Given the description of an element on the screen output the (x, y) to click on. 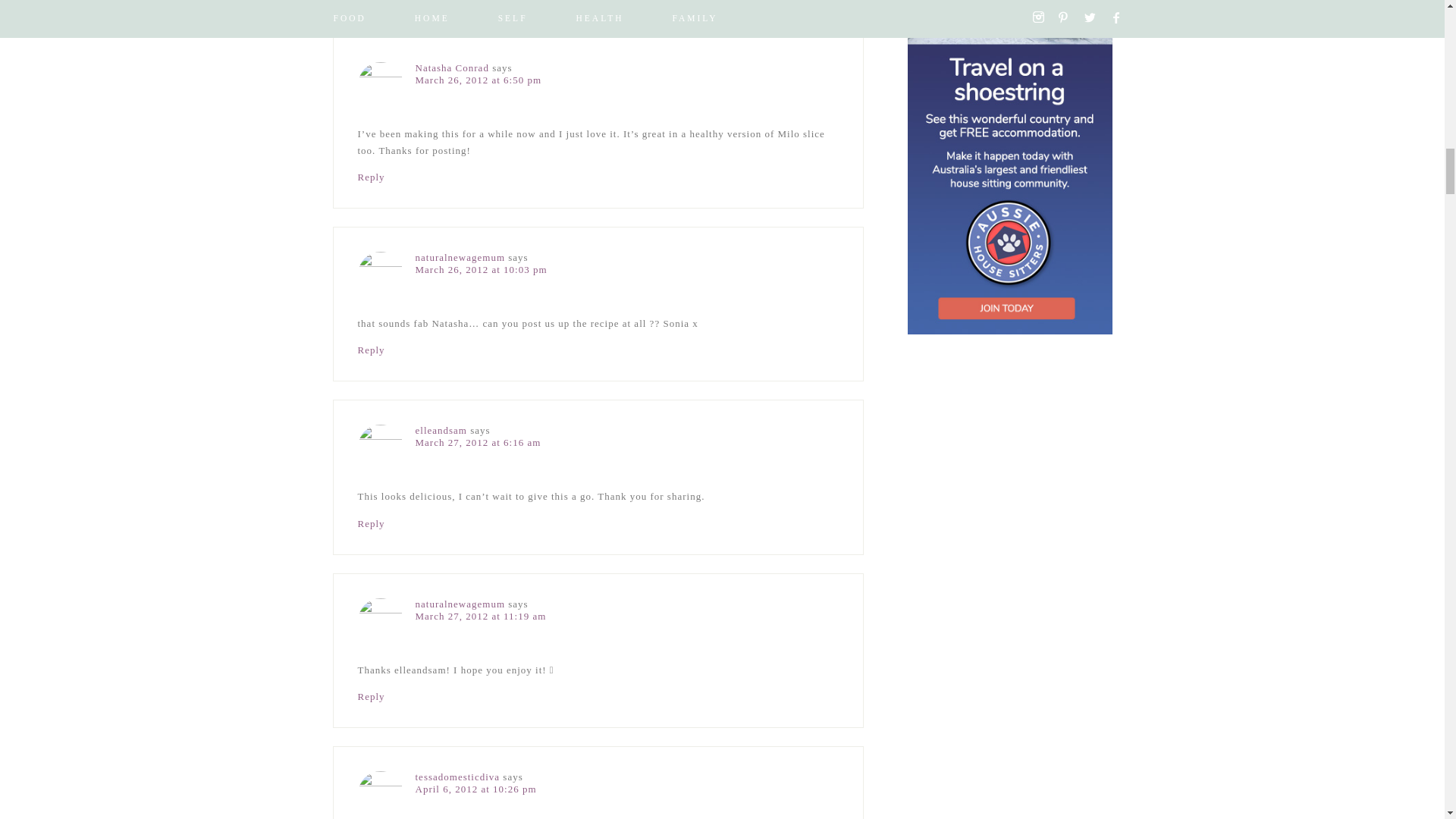
Natasha Conrad (451, 67)
March 26, 2012 at 6:50 pm (477, 79)
